Given the description of an element on the screen output the (x, y) to click on. 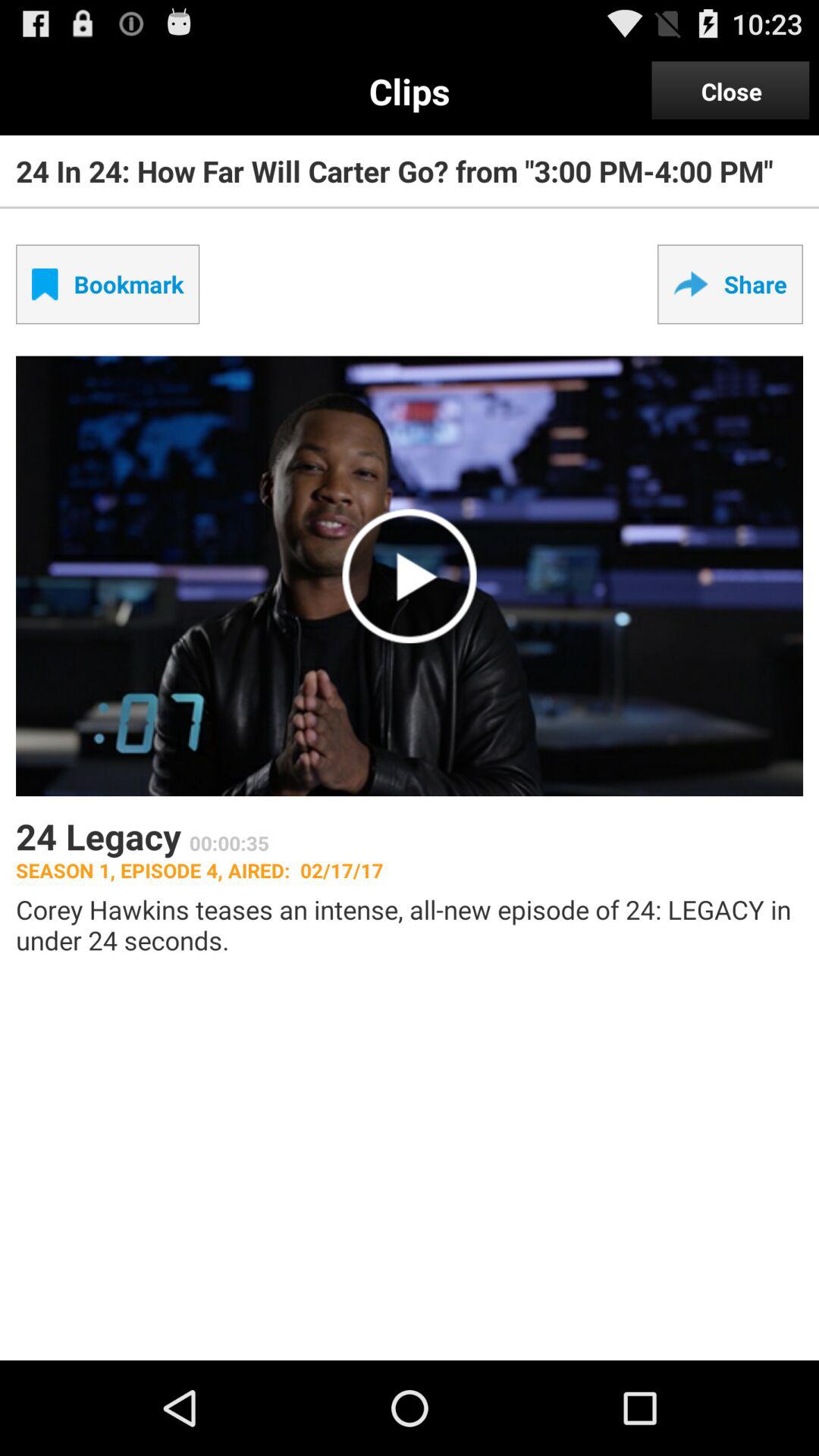
scroll to share checkbox (730, 284)
